Given the description of an element on the screen output the (x, y) to click on. 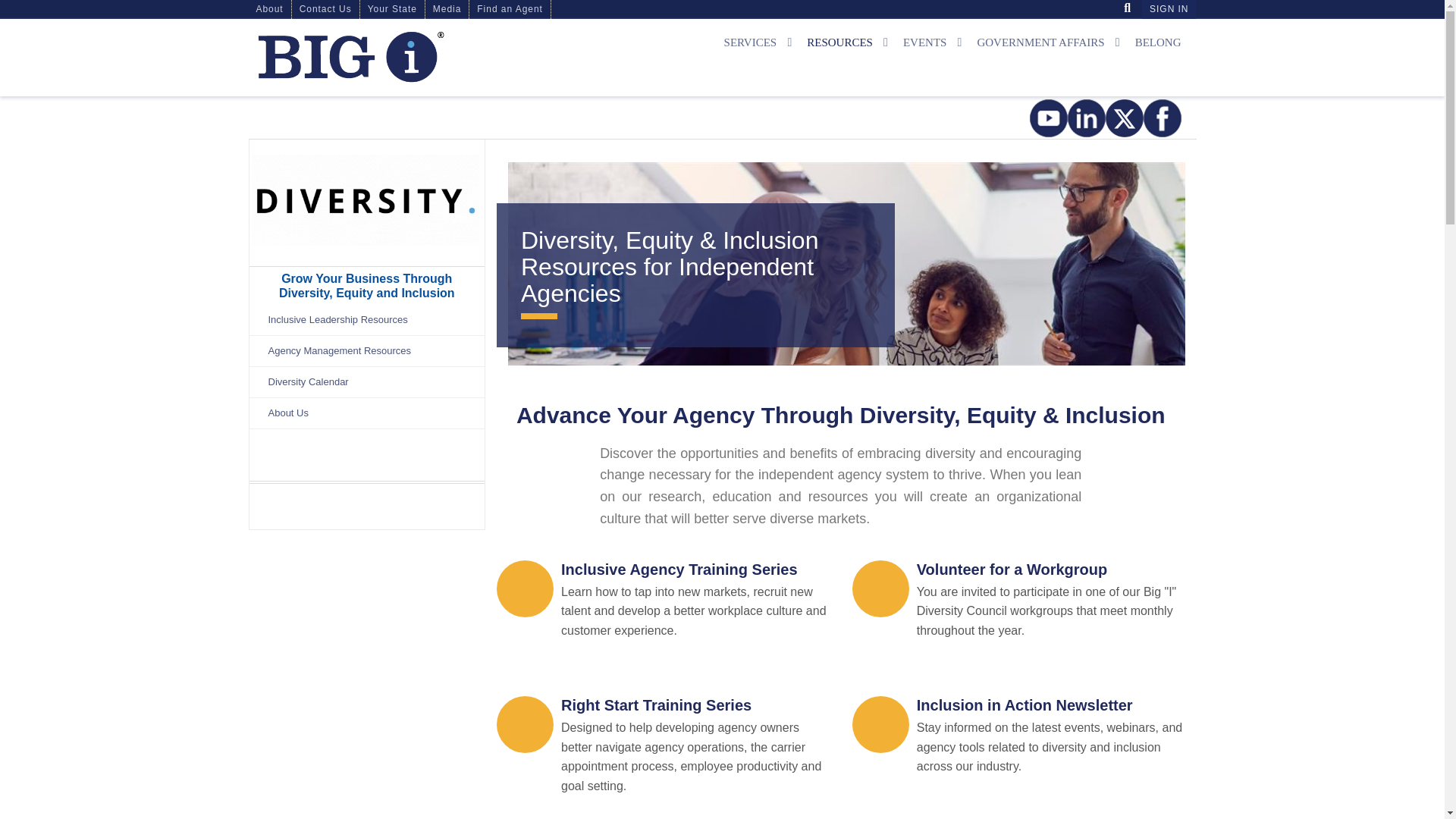
Contact Us (325, 9)
About (269, 9)
Your State (392, 9)
Sign In to access benefits (1168, 9)
Find an Agent (509, 9)
Home (400, 56)
SIGN IN (1168, 9)
Media (446, 9)
IACBWS05 (5, 5)
Grow Your Business Through Diversity, Equity and Inclusion (366, 199)
